Given the description of an element on the screen output the (x, y) to click on. 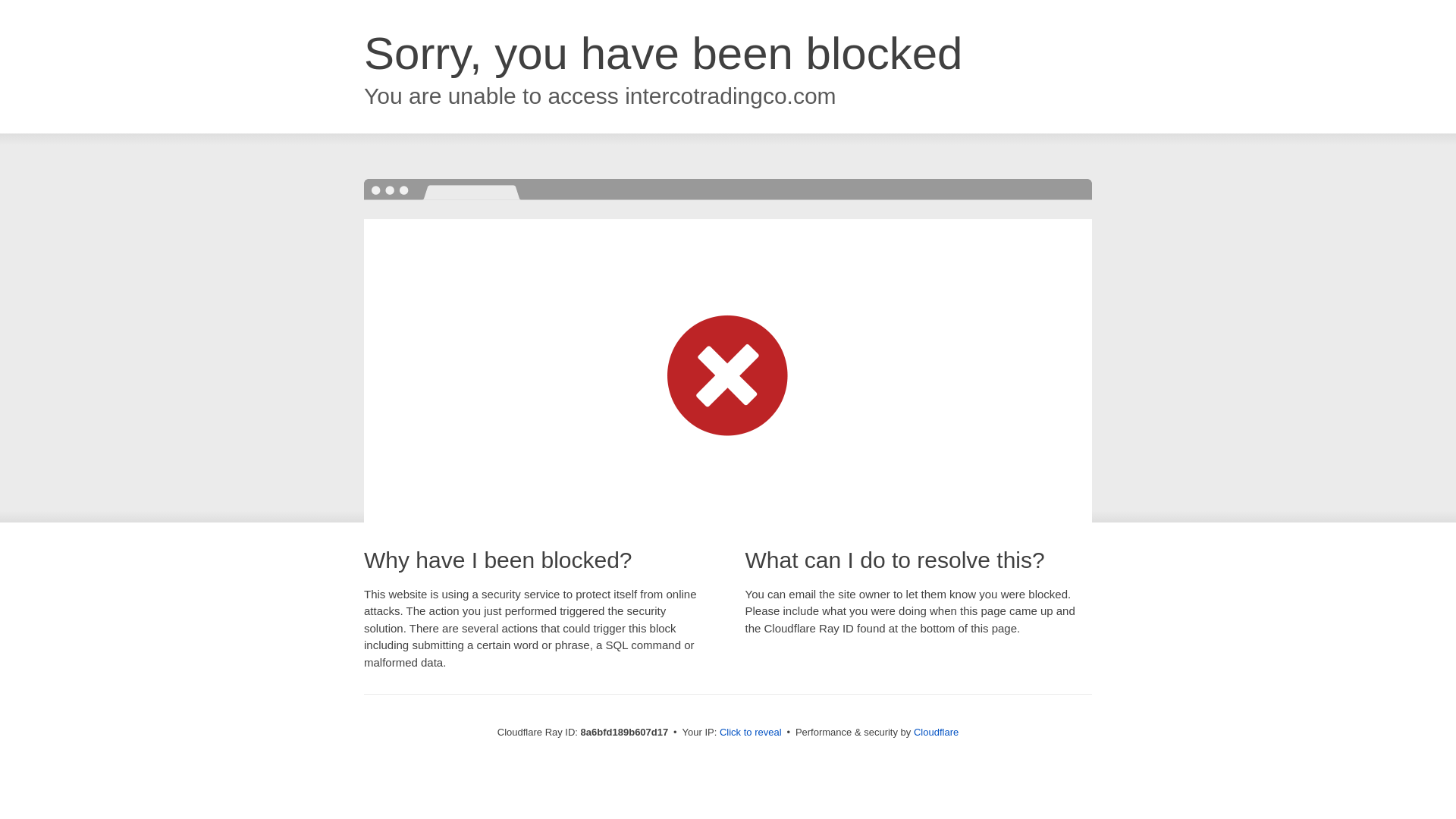
Click to reveal (750, 732)
Cloudflare (936, 731)
